Given the description of an element on the screen output the (x, y) to click on. 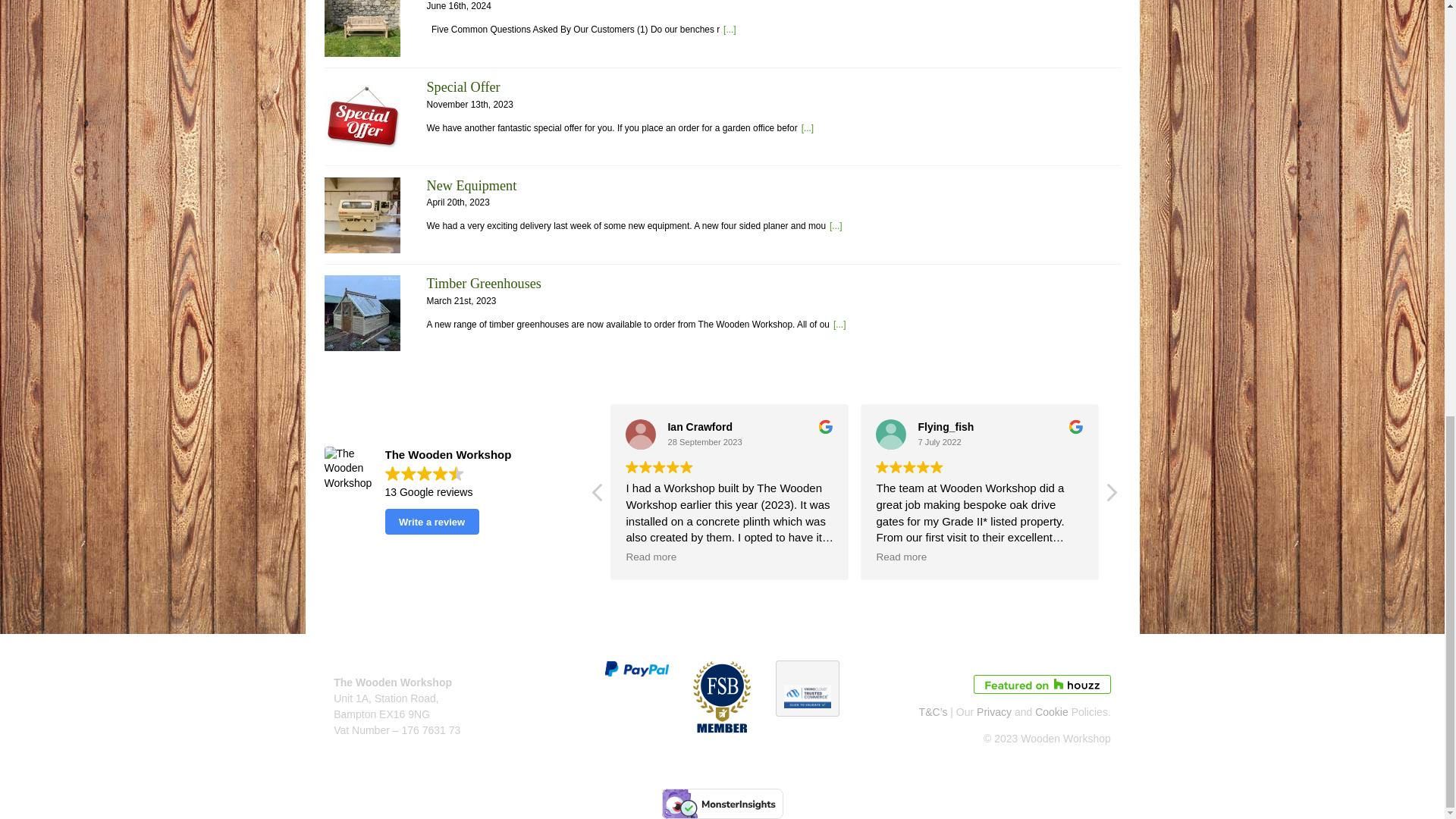
Timber Greenhouses (483, 283)
New Equipment (836, 225)
Special Offer (362, 116)
Timber Greenhouses (838, 324)
Special Offer (807, 127)
New Equipment (362, 215)
Special Offer (462, 87)
Timber Greenhouses (362, 313)
Memorial Bench - Five Most Common Questions (362, 28)
New Equipment (471, 185)
Memorial Bench - Five Most Common Questions (729, 29)
